Given the description of an element on the screen output the (x, y) to click on. 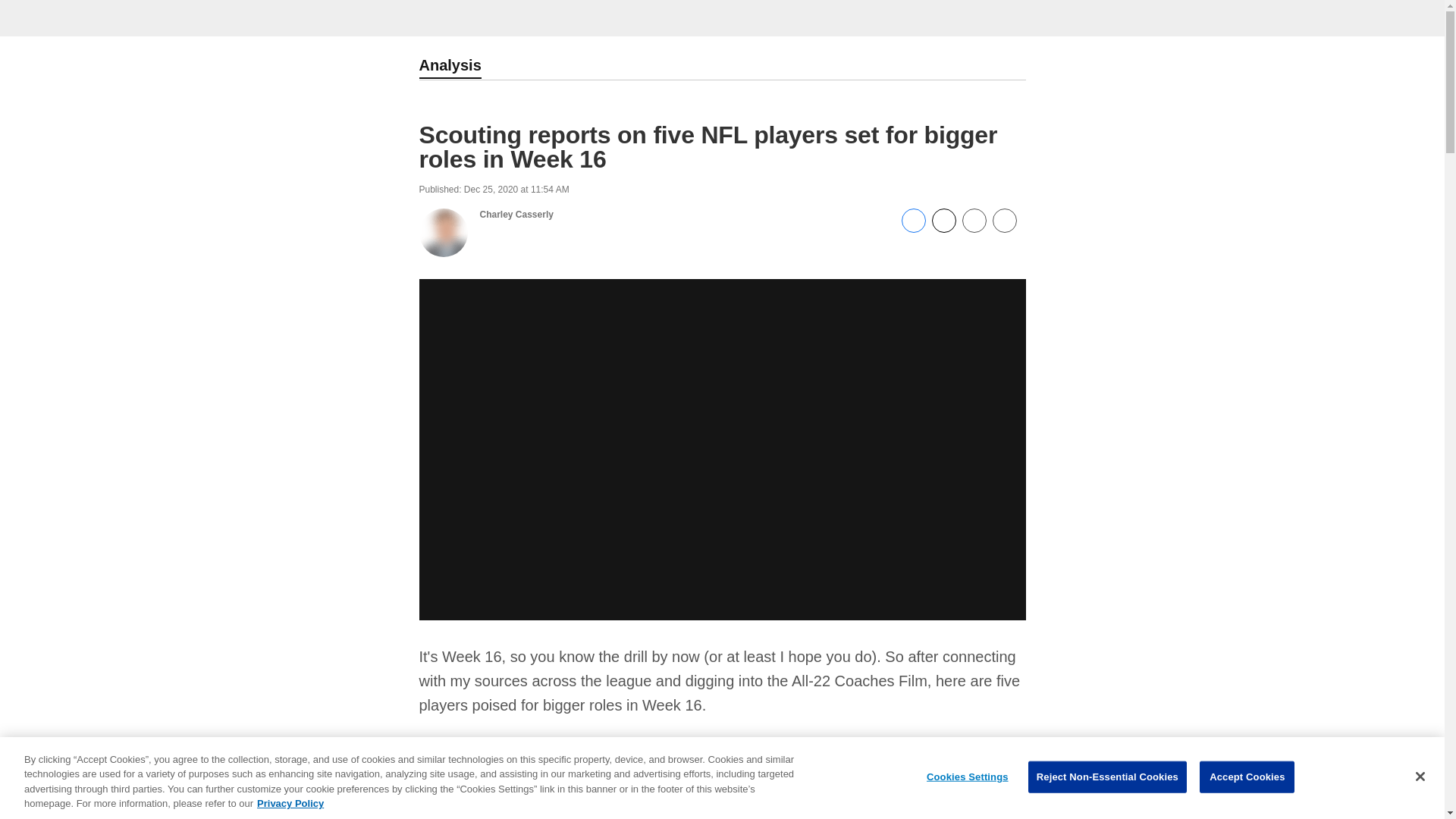
Share on Twitter (943, 228)
Copy link (1003, 221)
Nick Harris (521, 814)
Analysis (449, 66)
Nick Harris (521, 814)
Send email (972, 228)
Share on Facebook (912, 228)
